Given the description of an element on the screen output the (x, y) to click on. 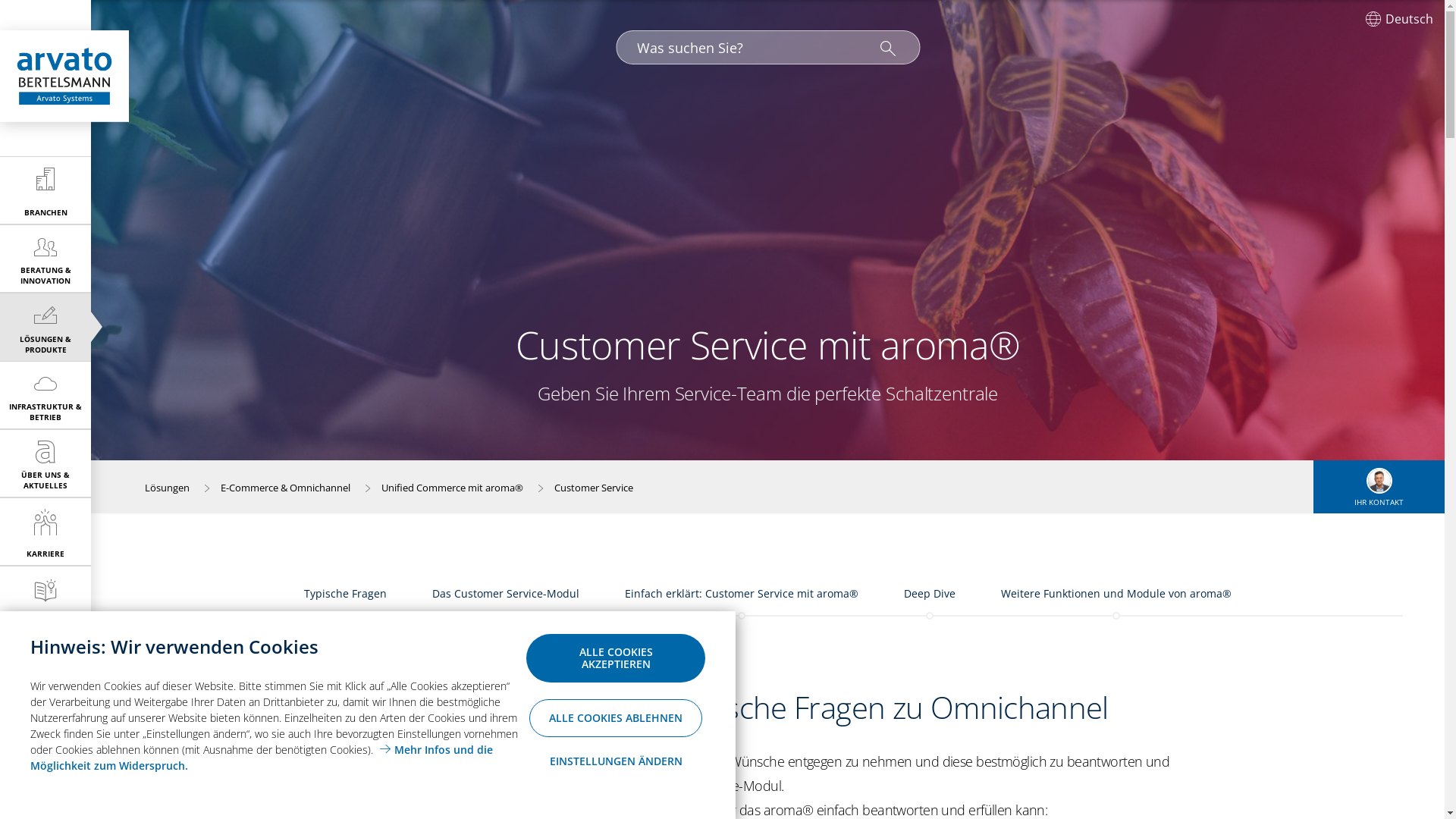
E-Commerce & Omnichannel Element type: text (285, 487)
Customer Service Element type: text (593, 487)
ALLE COOKIES AKZEPTIEREN Element type: text (615, 657)
ALLE COOKIES ABLEHNEN Element type: text (615, 718)
KARRIERE Element type: text (45, 531)
MA_Nasser_Kaspari_Commerce Element type: hover (1379, 480)
BLOG Element type: text (45, 599)
